Given the description of an element on the screen output the (x, y) to click on. 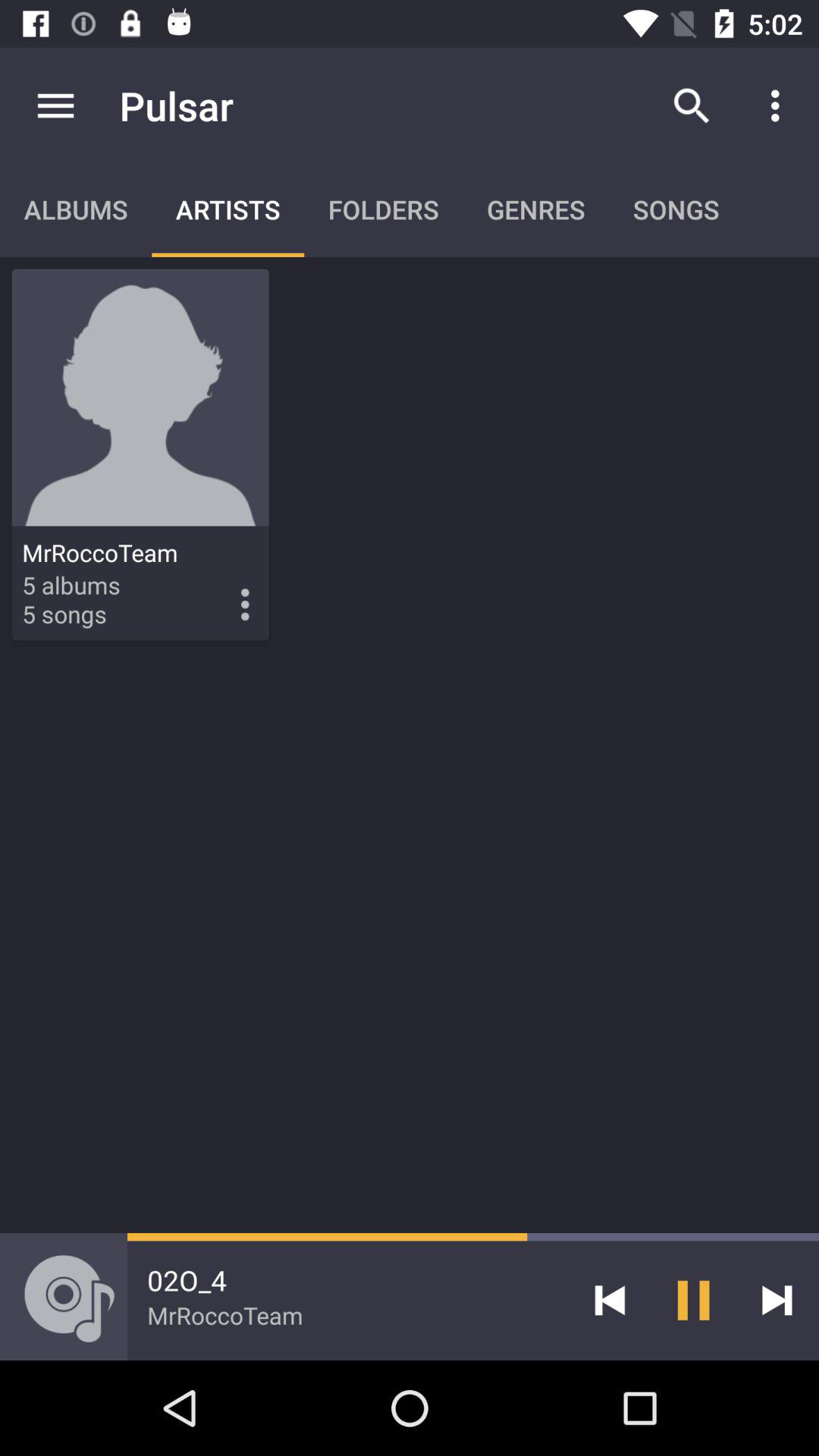
turn on item above the songs icon (691, 105)
